Given the description of an element on the screen output the (x, y) to click on. 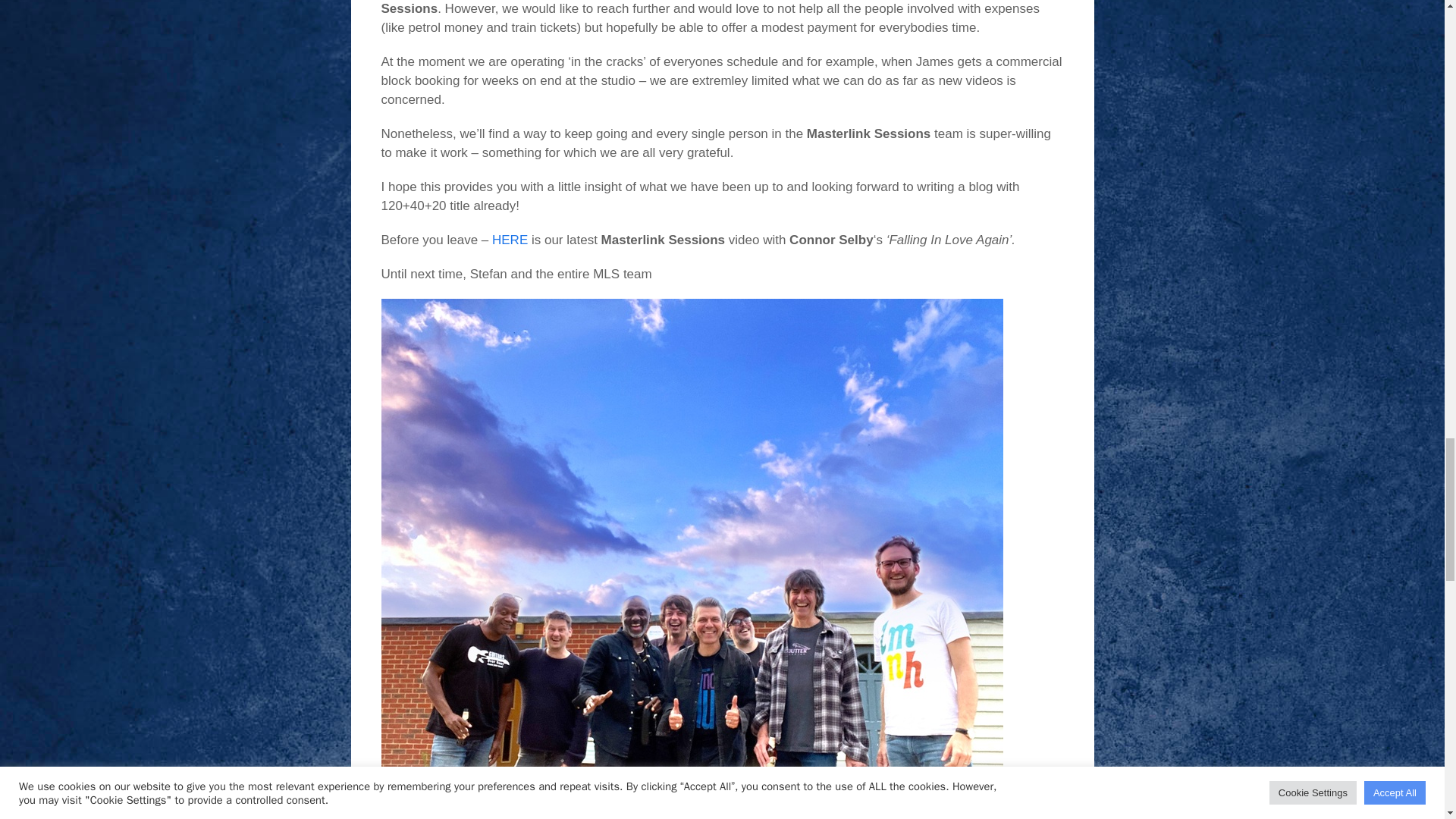
HERE (509, 239)
